Given the description of an element on the screen output the (x, y) to click on. 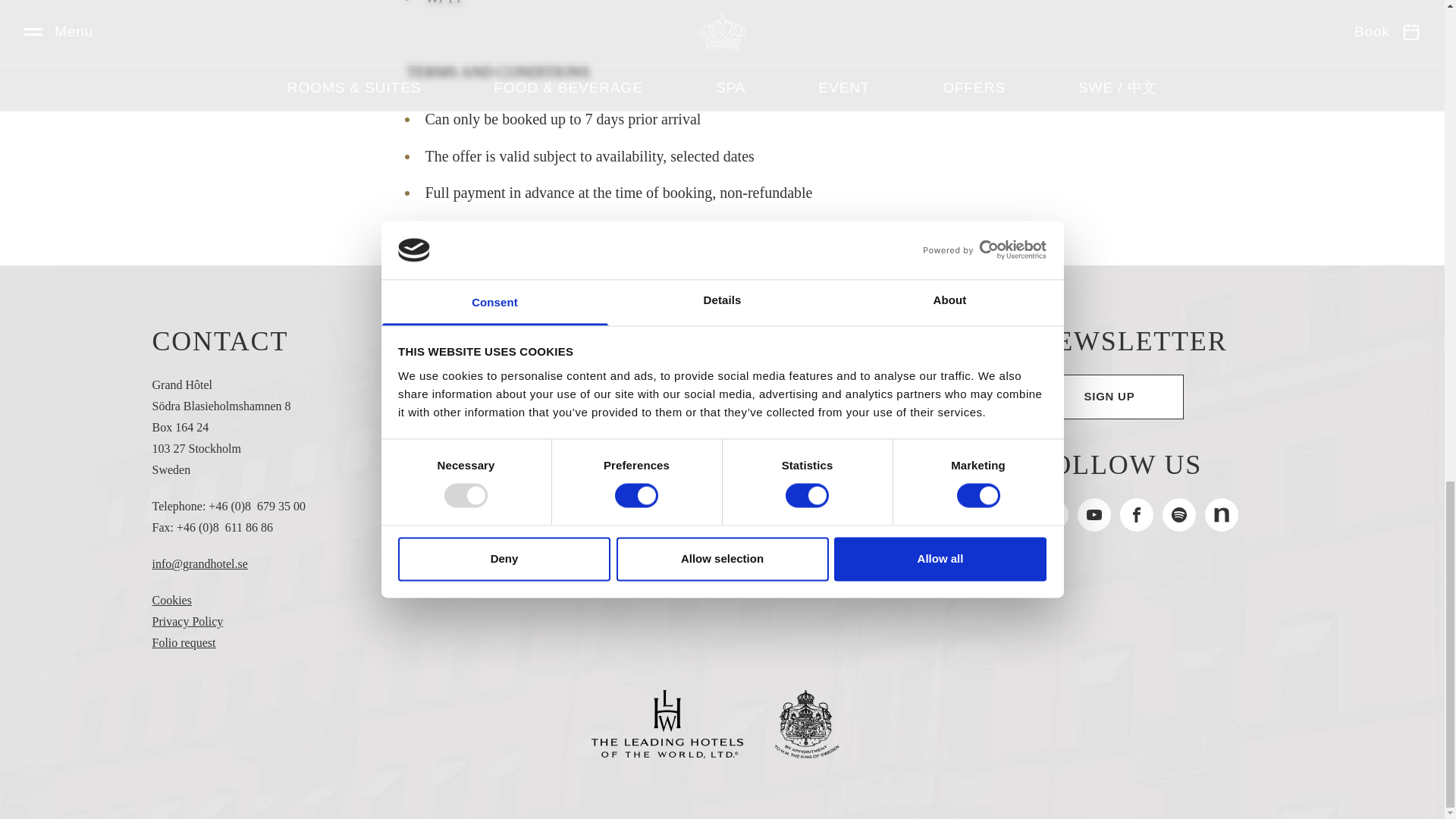
Cookies (170, 599)
Folio request (183, 642)
Privacy policy (186, 621)
